Given the description of an element on the screen output the (x, y) to click on. 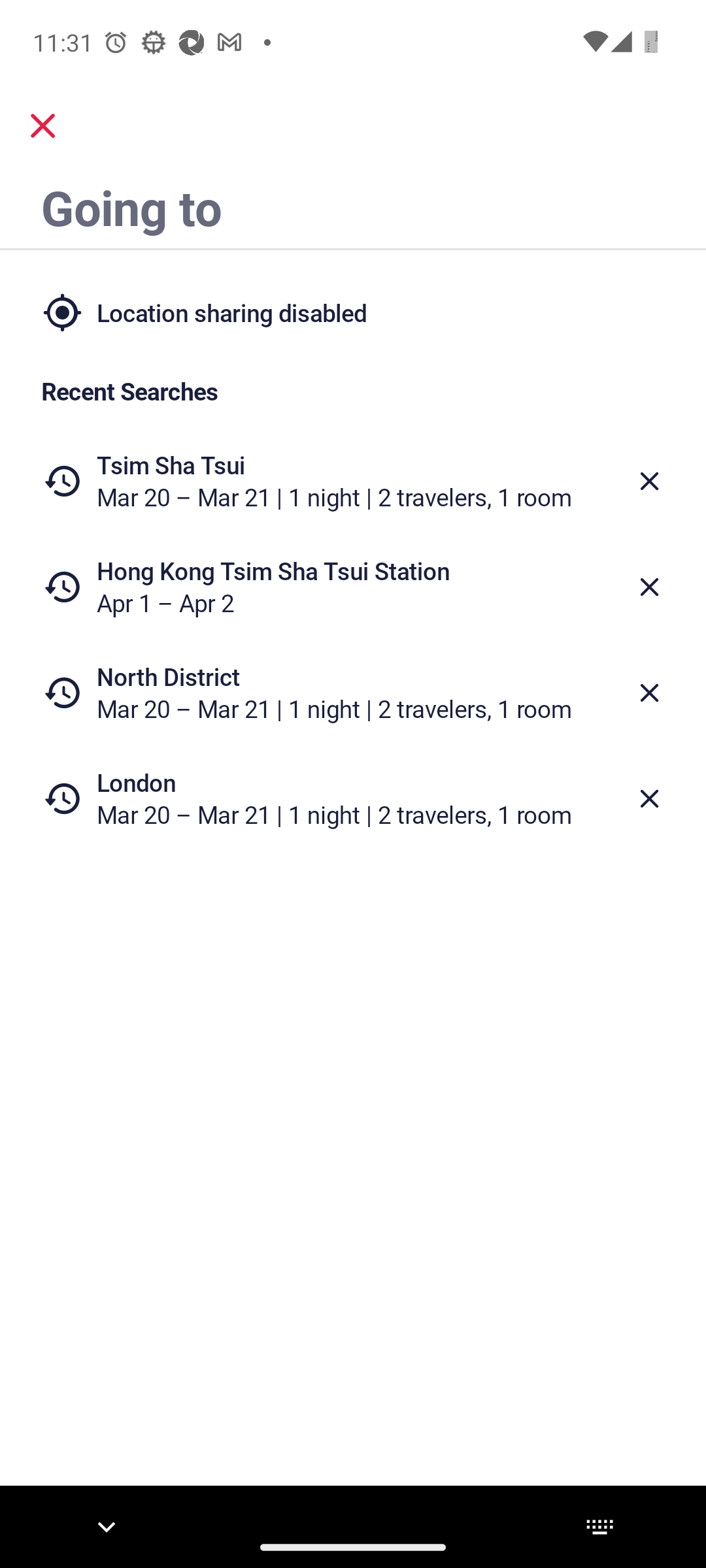
close. (43, 125)
Location sharing disabled (353, 312)
Delete from recent searches (649, 481)
Hong Kong Tsim Sha Tsui Station Apr 1 – Apr 2 (353, 586)
Delete from recent searches (649, 586)
Delete from recent searches (649, 692)
Delete from recent searches (649, 798)
